Given the description of an element on the screen output the (x, y) to click on. 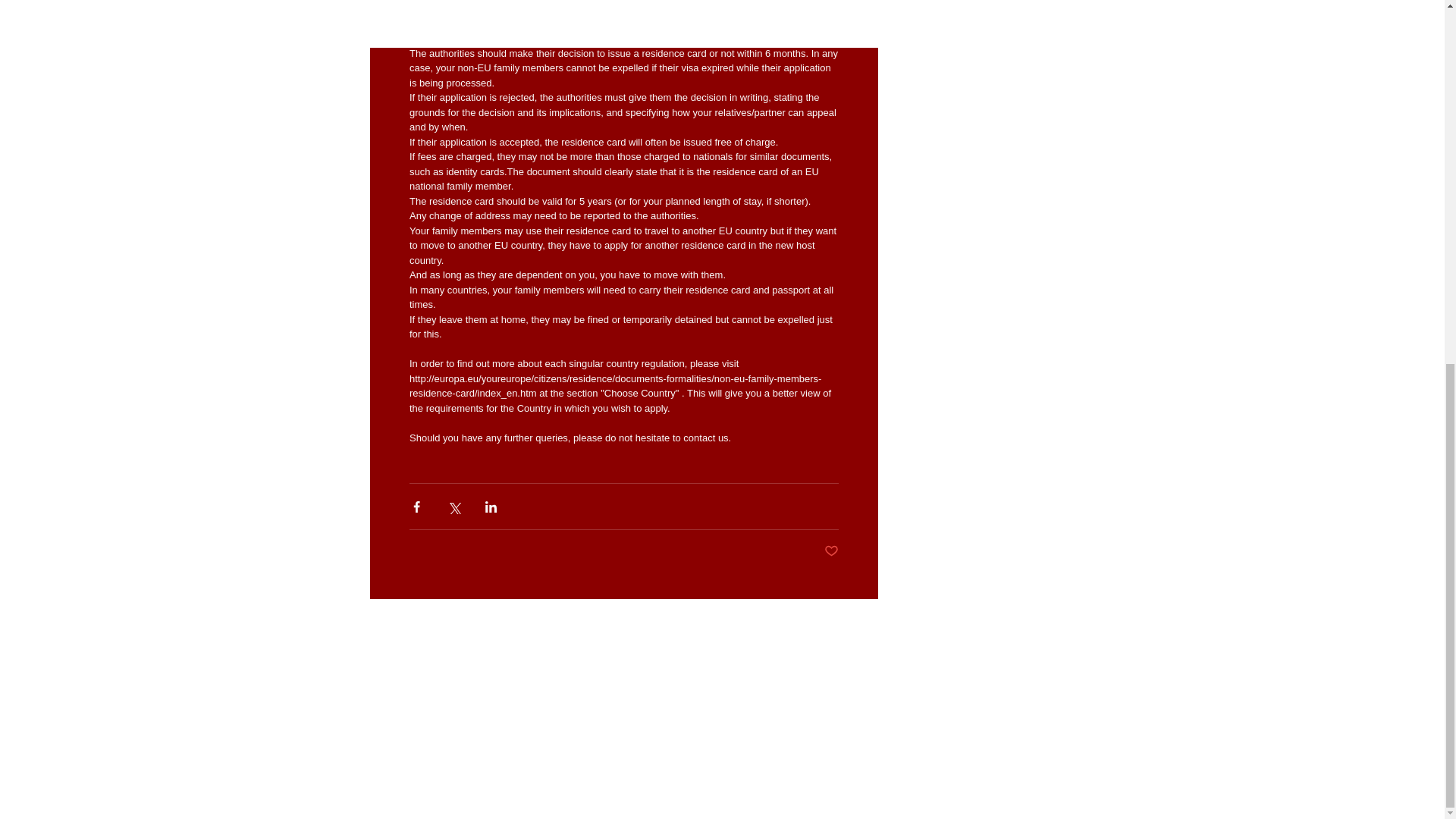
Post not marked as liked (831, 551)
